Given the description of an element on the screen output the (x, y) to click on. 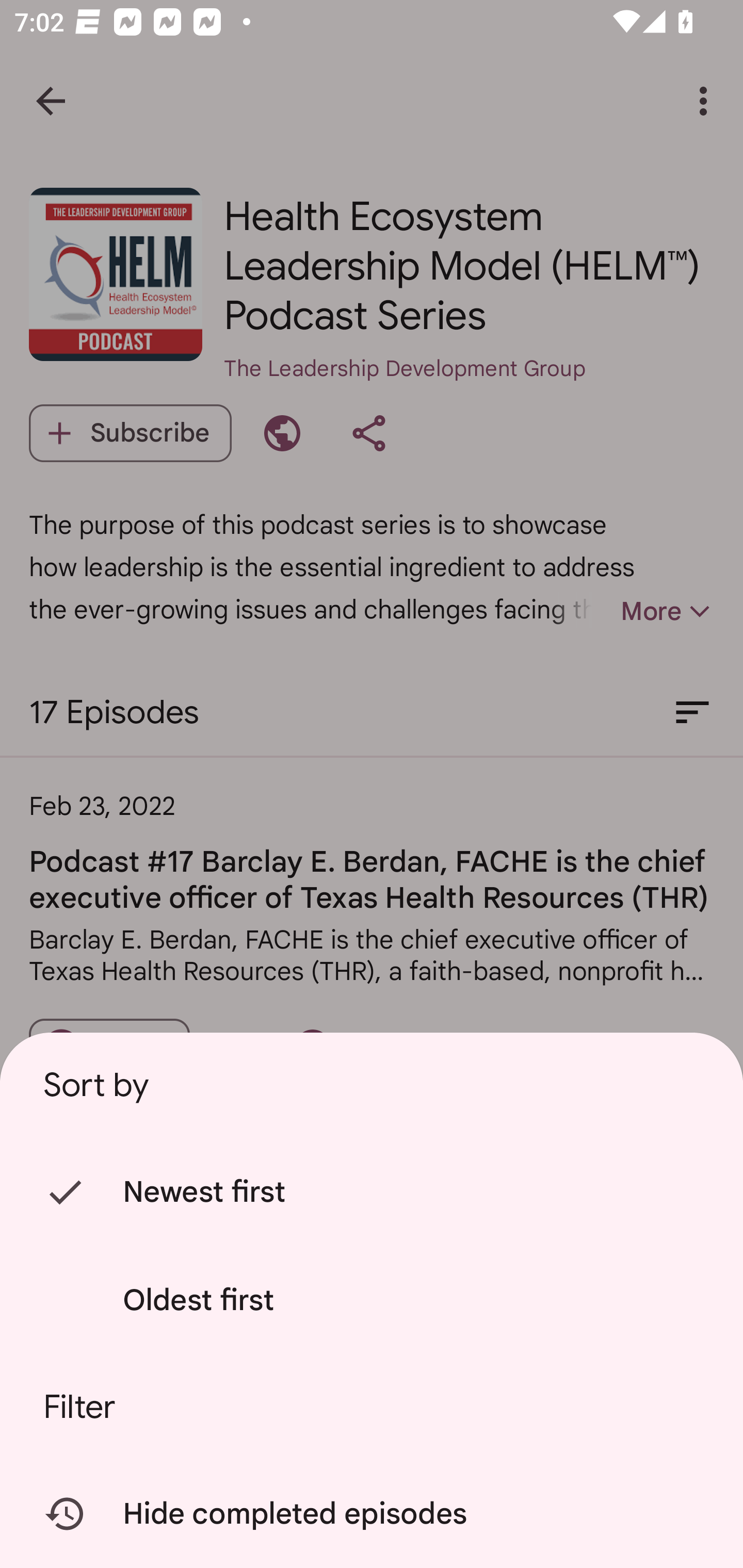
Newest first (375, 1192)
Oldest first (375, 1300)
Hide completed episodes (375, 1513)
